Given the description of an element on the screen output the (x, y) to click on. 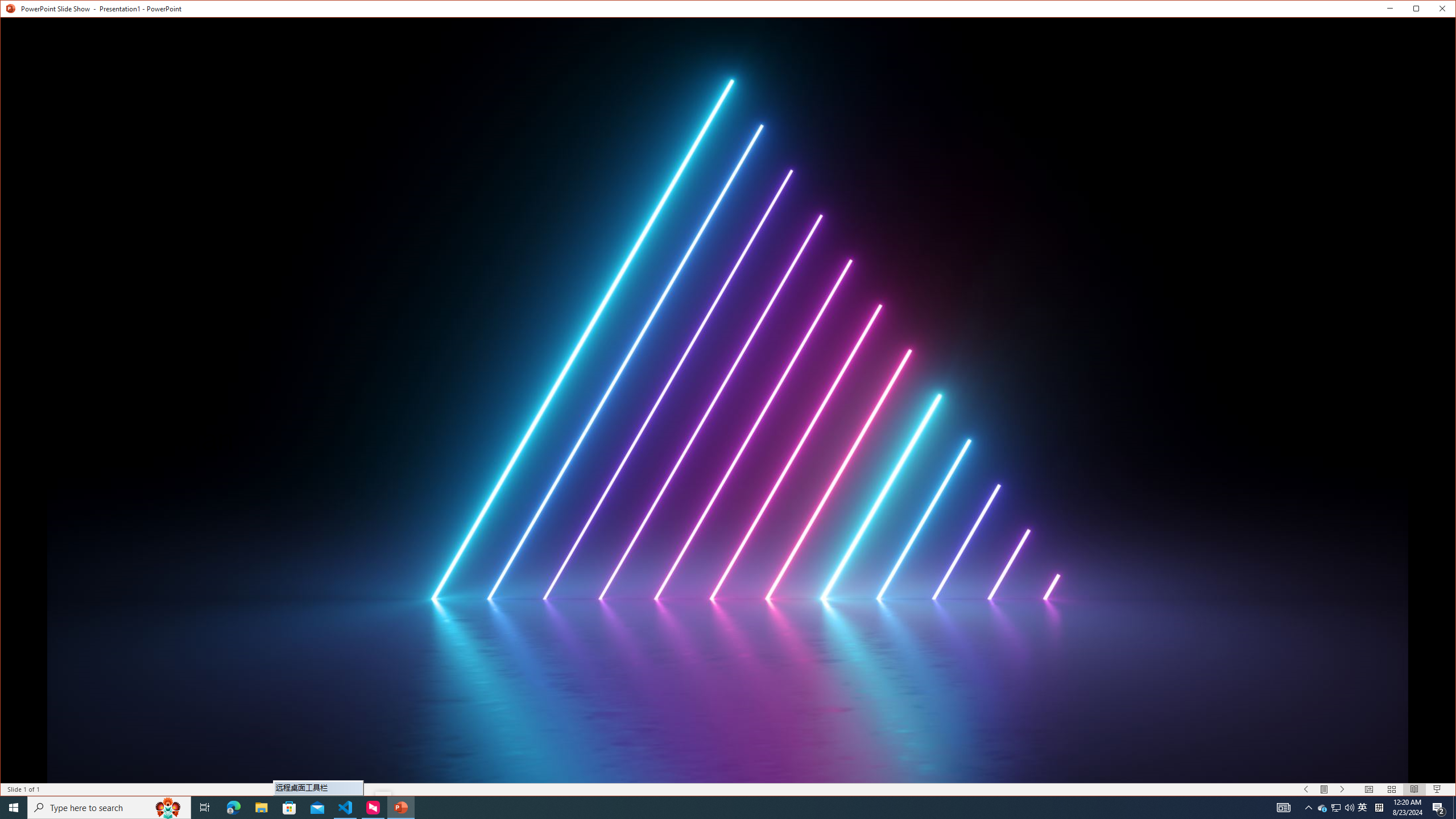
Class: MsoCommandBar (1362, 807)
Start (728, 789)
PowerPoint - 1 running window (13, 807)
Slide Show Previous On (400, 807)
System (1306, 789)
Slide Sorter (10, 10)
Visual Studio Code - 1 running window (1391, 789)
Show desktop (1322, 807)
Maximize (345, 807)
Microsoft Edge (1454, 807)
Tray Input Indicator - Chinese (Simplified, China) (1432, 11)
